Given the description of an element on the screen output the (x, y) to click on. 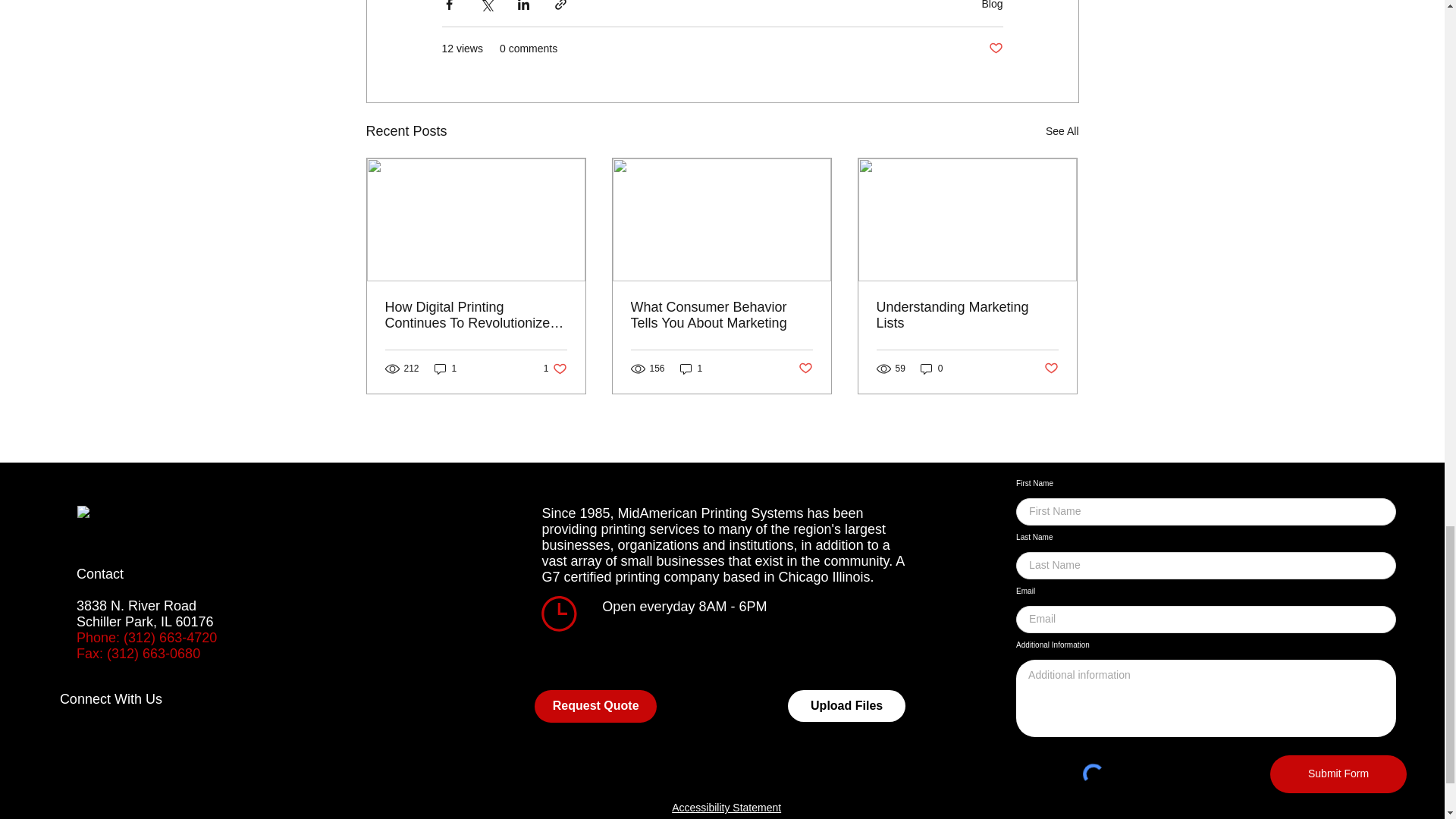
How Digital Printing Continues To Revolutionize Marketing (476, 315)
Blog (992, 4)
1 (445, 368)
Post not marked as liked (995, 48)
See All (1061, 131)
